Given the description of an element on the screen output the (x, y) to click on. 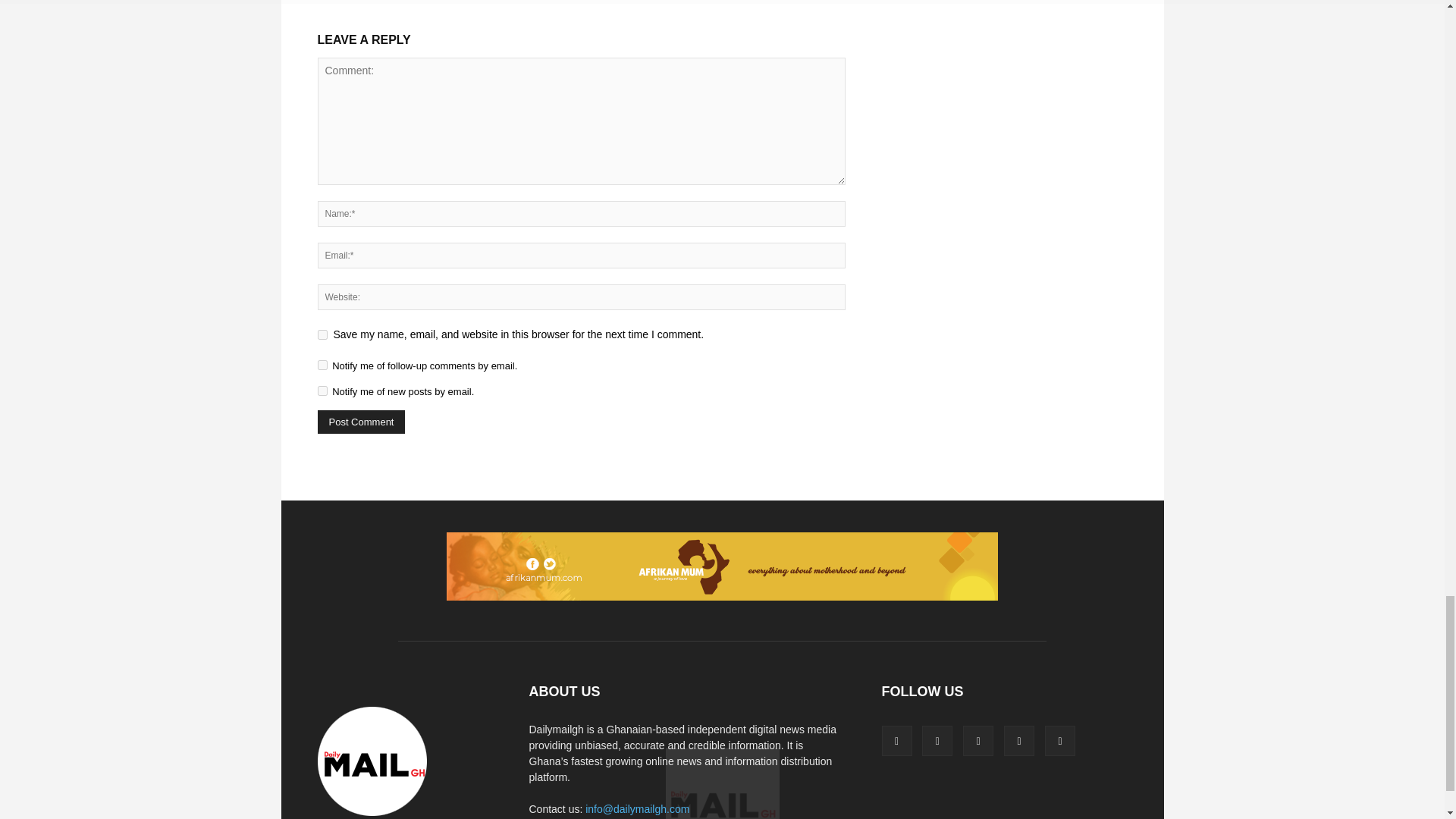
yes (321, 334)
Post Comment (360, 422)
subscribe (321, 390)
subscribe (321, 365)
